Given the description of an element on the screen output the (x, y) to click on. 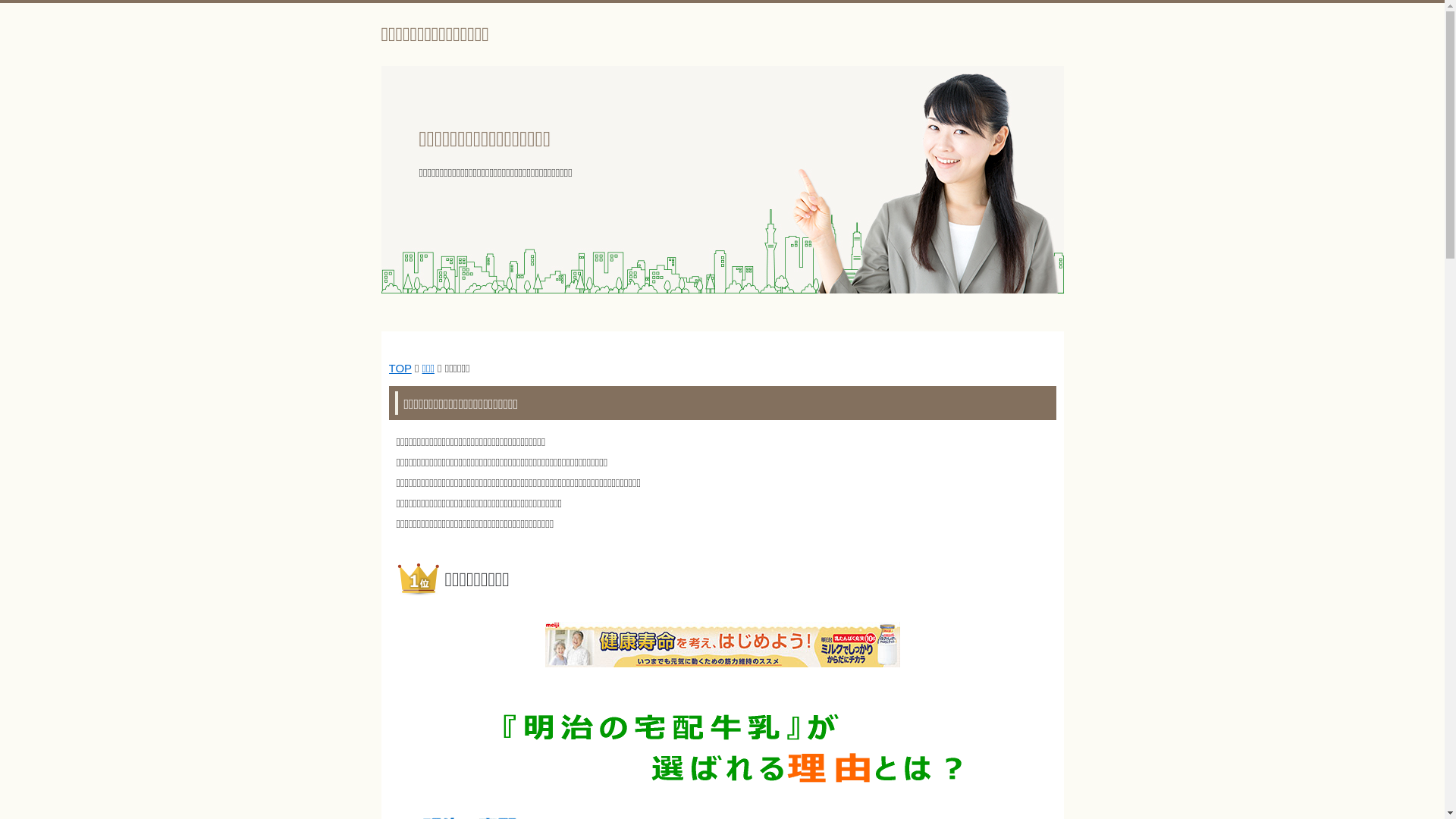
TOP Element type: text (399, 367)
